Given the description of an element on the screen output the (x, y) to click on. 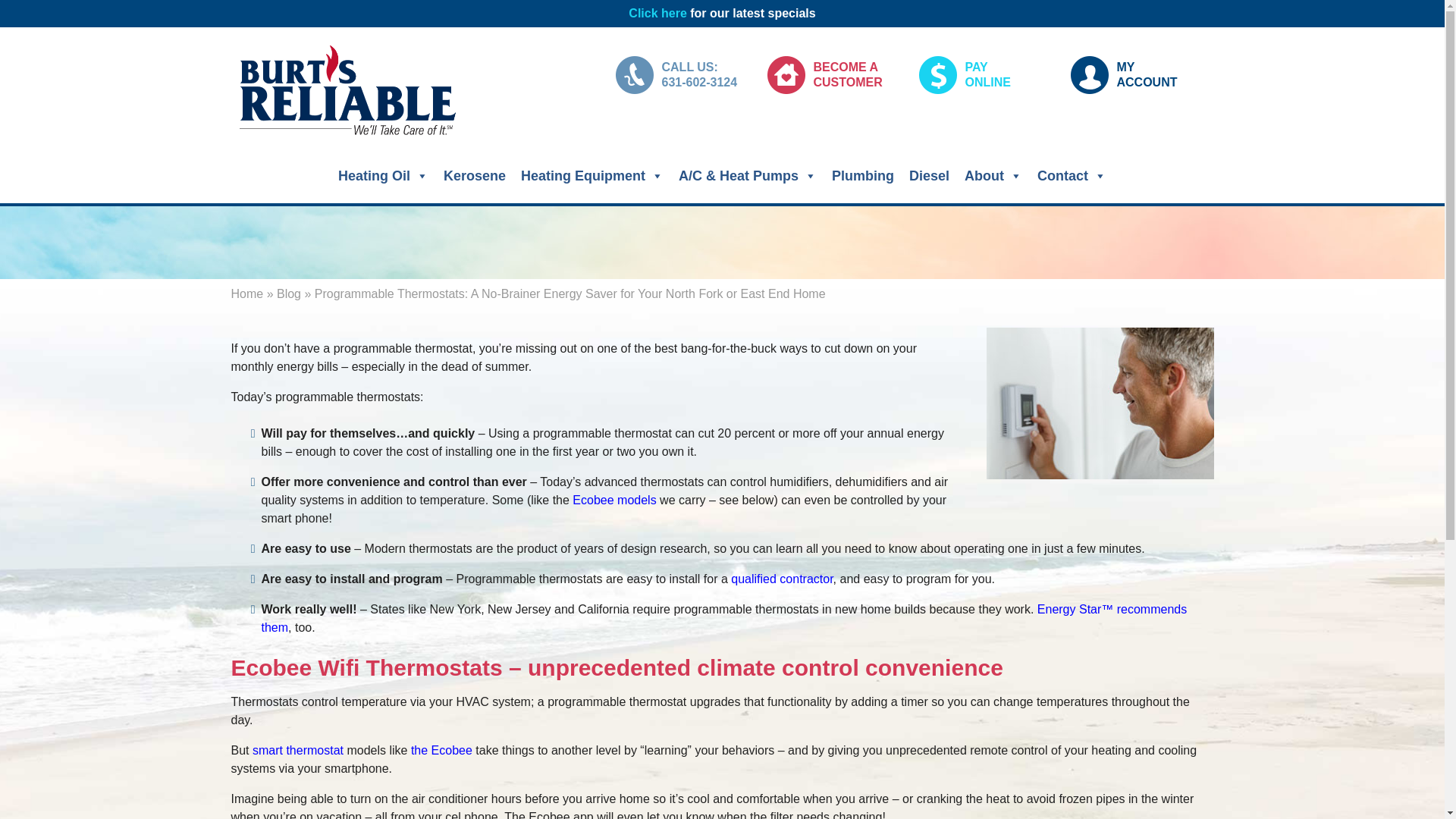
About (1136, 75)
Heating Oil (992, 175)
Heating Equipment (382, 175)
Kerosene (592, 175)
Click here (474, 175)
Plumbing (656, 12)
smart thermostat (862, 175)
